Given the description of an element on the screen output the (x, y) to click on. 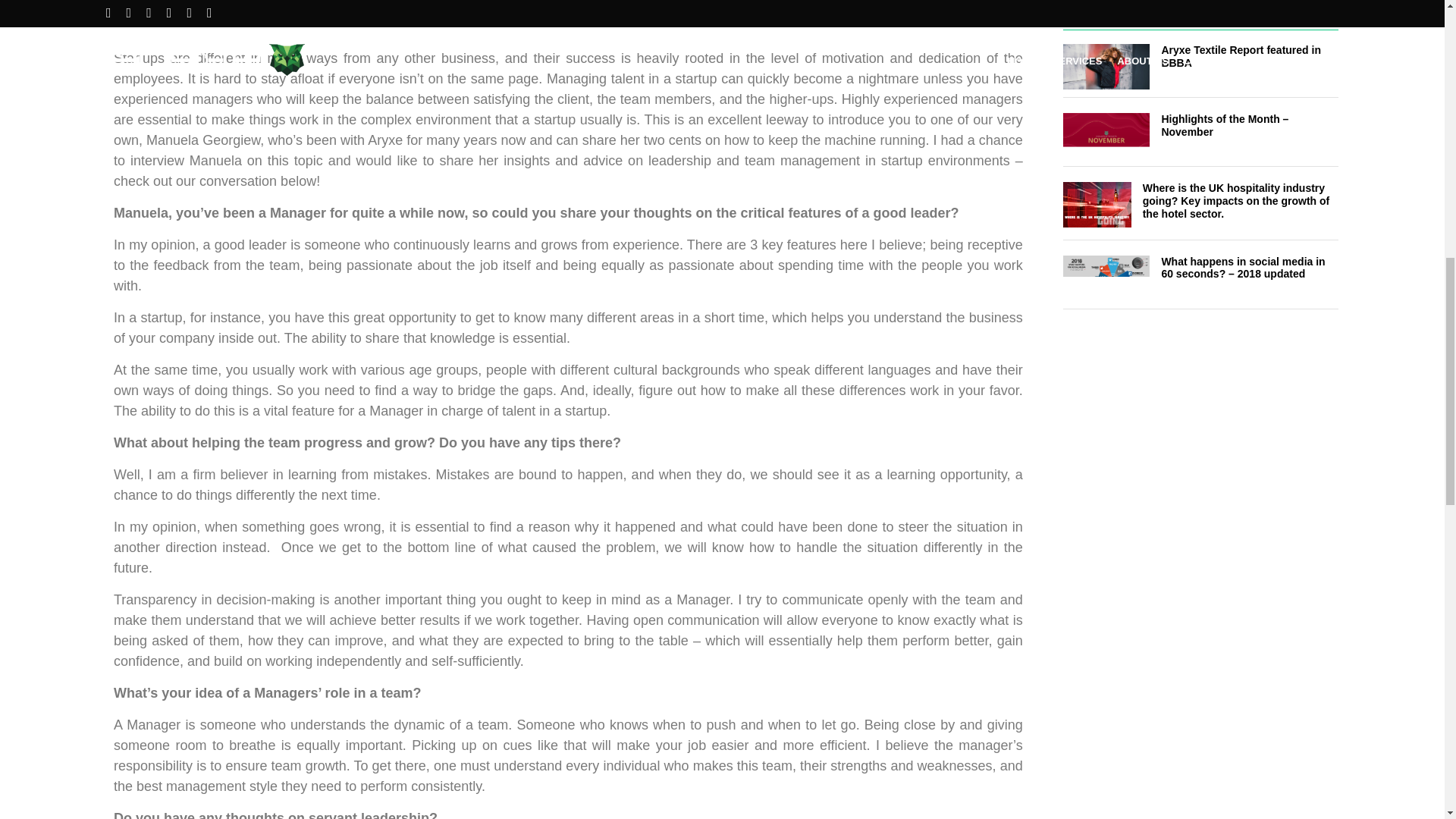
Aryxe Textile Report featured in BBBA (1200, 70)
